Given the description of an element on the screen output the (x, y) to click on. 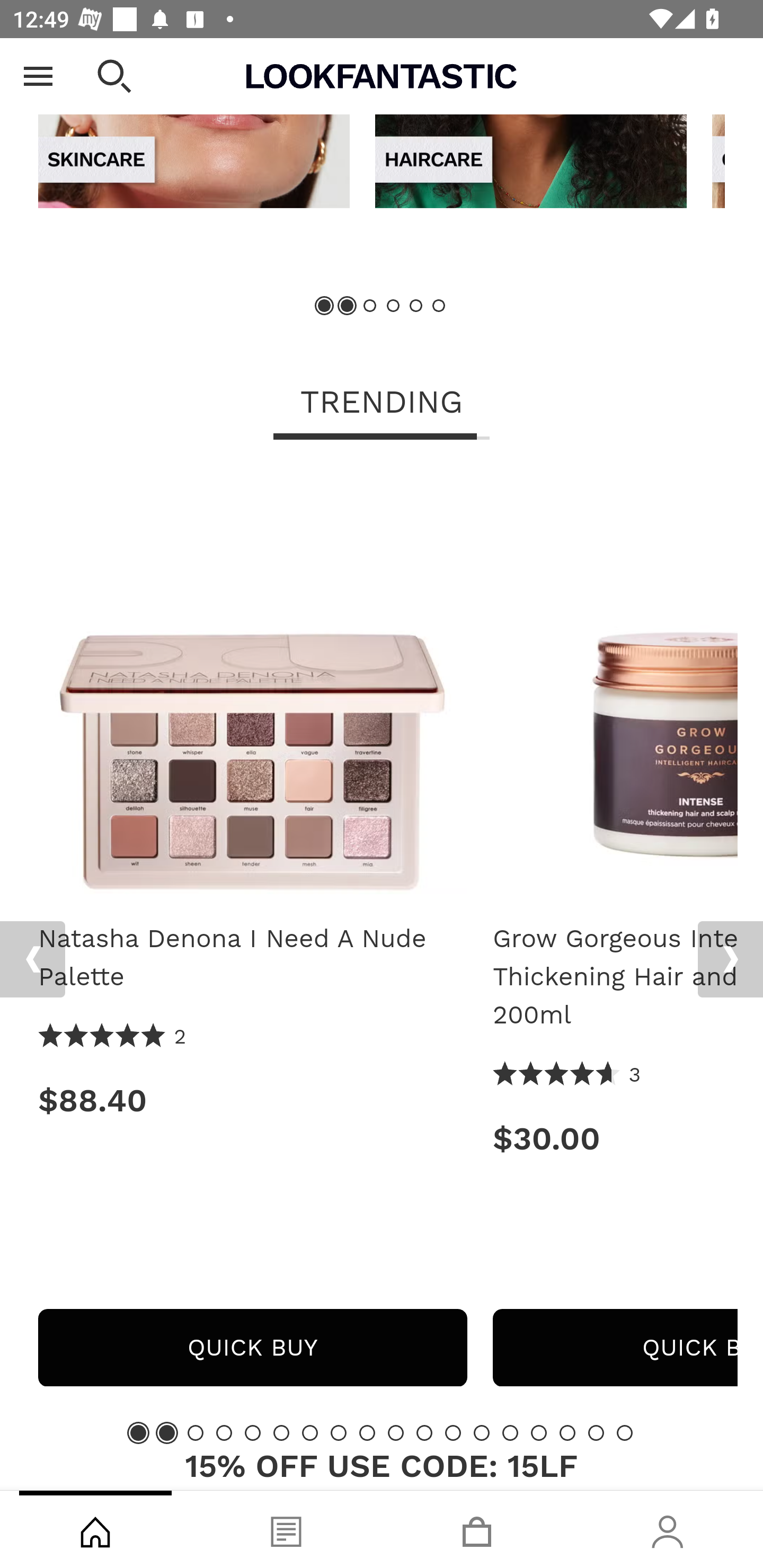
Previous (35, 75)
Showing Slide 1 (Current Item) (324, 306)
Showing Slide 2 (Current Item) (347, 306)
Slide 3 (369, 306)
Slide 4 (393, 306)
Slide 5 (415, 306)
Slide 6 (437, 306)
TRENDING (381, 403)
Natasha Denona I Need A Nude Palette (252, 685)
Natasha Denona I Need A Nude Palette (252, 957)
Previous (32, 958)
Next (730, 958)
5.0 Stars 2 Reviews (112, 1036)
4.67 Stars 3 Reviews (567, 1074)
Price: $88.40 (252, 1100)
Price: $30.00 (614, 1137)
QUICK BUY NATASHA DENONA I NEED A NUDE PALETTE (252, 1347)
Showing Slide 1 (Current Item) (138, 1431)
Showing Slide 2 (Current Item) (166, 1431)
Slide 3 (195, 1431)
Slide 4 (223, 1431)
Slide 5 (252, 1431)
Slide 6 (281, 1431)
Slide 7 (310, 1431)
Slide 8 (338, 1431)
Slide 9 (367, 1431)
Slide 10 (395, 1431)
Slide 11 (424, 1431)
Slide 12 (452, 1431)
Slide 13 (481, 1431)
Slide 14 (510, 1431)
Slide 15 (539, 1431)
Slide 16 (567, 1431)
Slide 17 (596, 1431)
Slide 18 (624, 1431)
Shop, tab, 1 of 4 (95, 1529)
Blog, tab, 2 of 4 (285, 1529)
Basket, tab, 3 of 4 (476, 1529)
Account, tab, 4 of 4 (667, 1529)
